Given the description of an element on the screen output the (x, y) to click on. 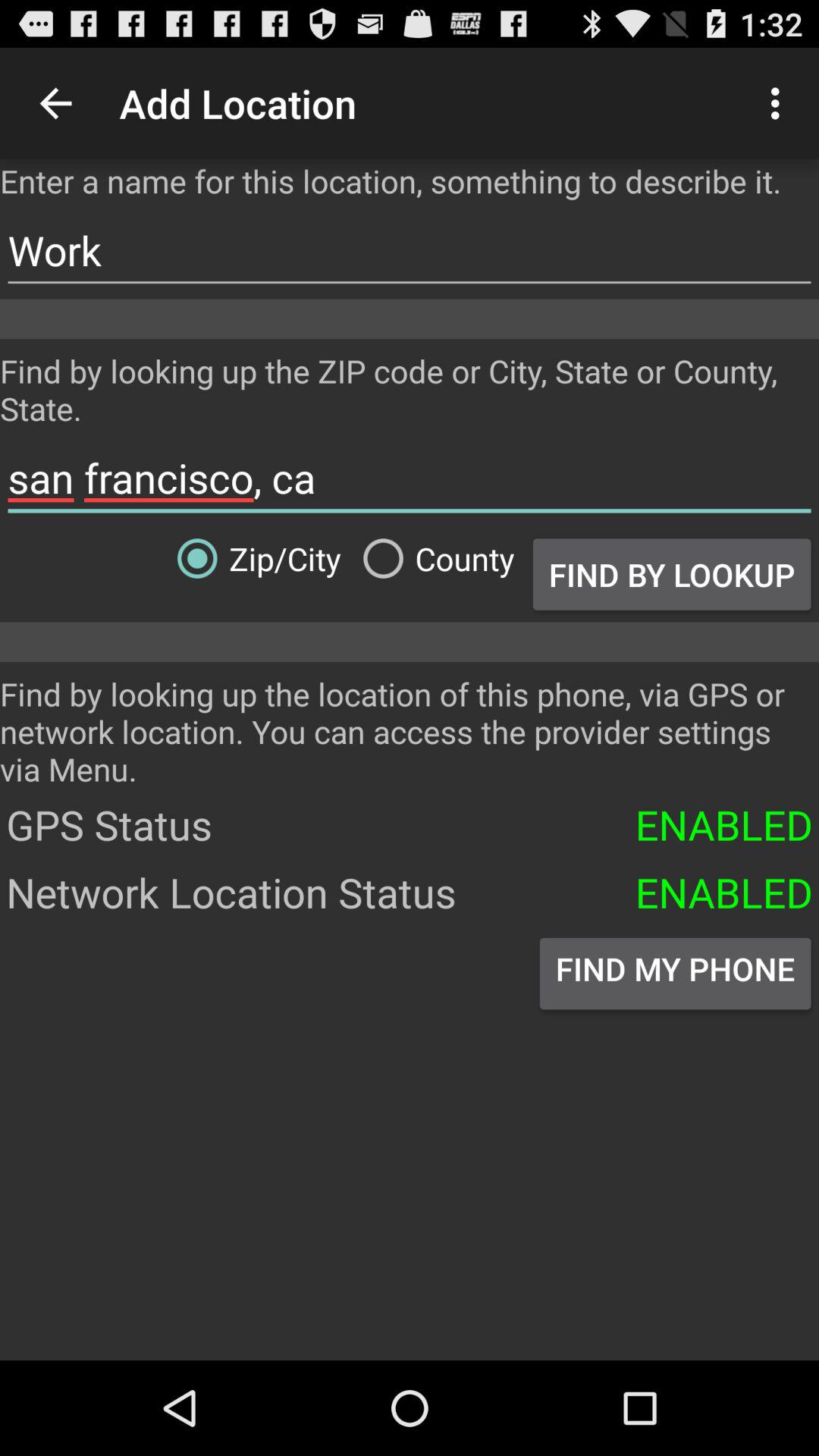
choose item next to the add location app (779, 103)
